Given the description of an element on the screen output the (x, y) to click on. 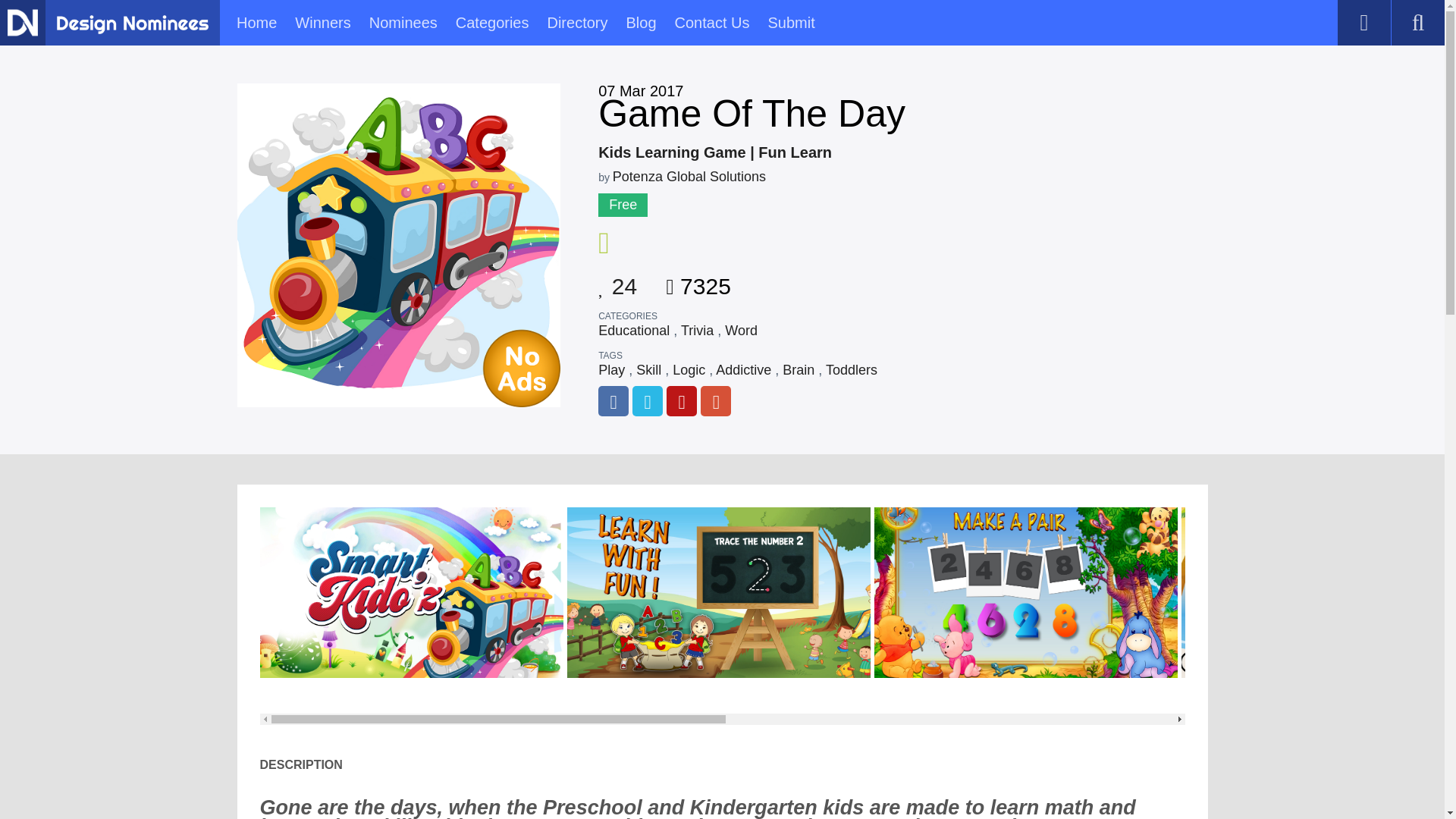
Play (611, 369)
Nominees (403, 22)
Directory (577, 22)
Word (741, 330)
Logic (688, 369)
Contact Us (712, 22)
Trivia (697, 330)
Categories (492, 22)
Design Nominees (132, 24)
Winners (322, 22)
